Given the description of an element on the screen output the (x, y) to click on. 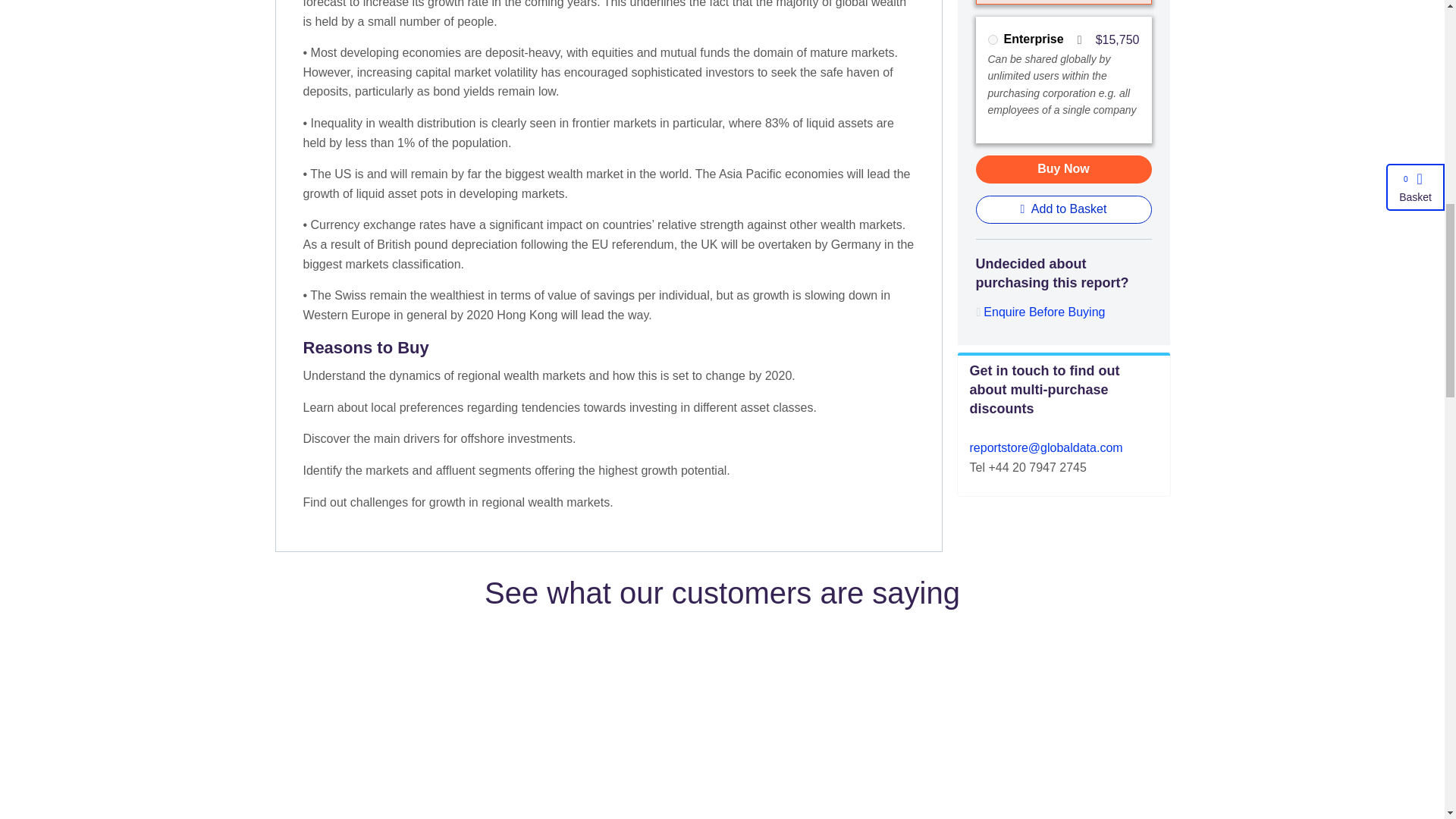
909312 (992, 40)
